Given the description of an element on the screen output the (x, y) to click on. 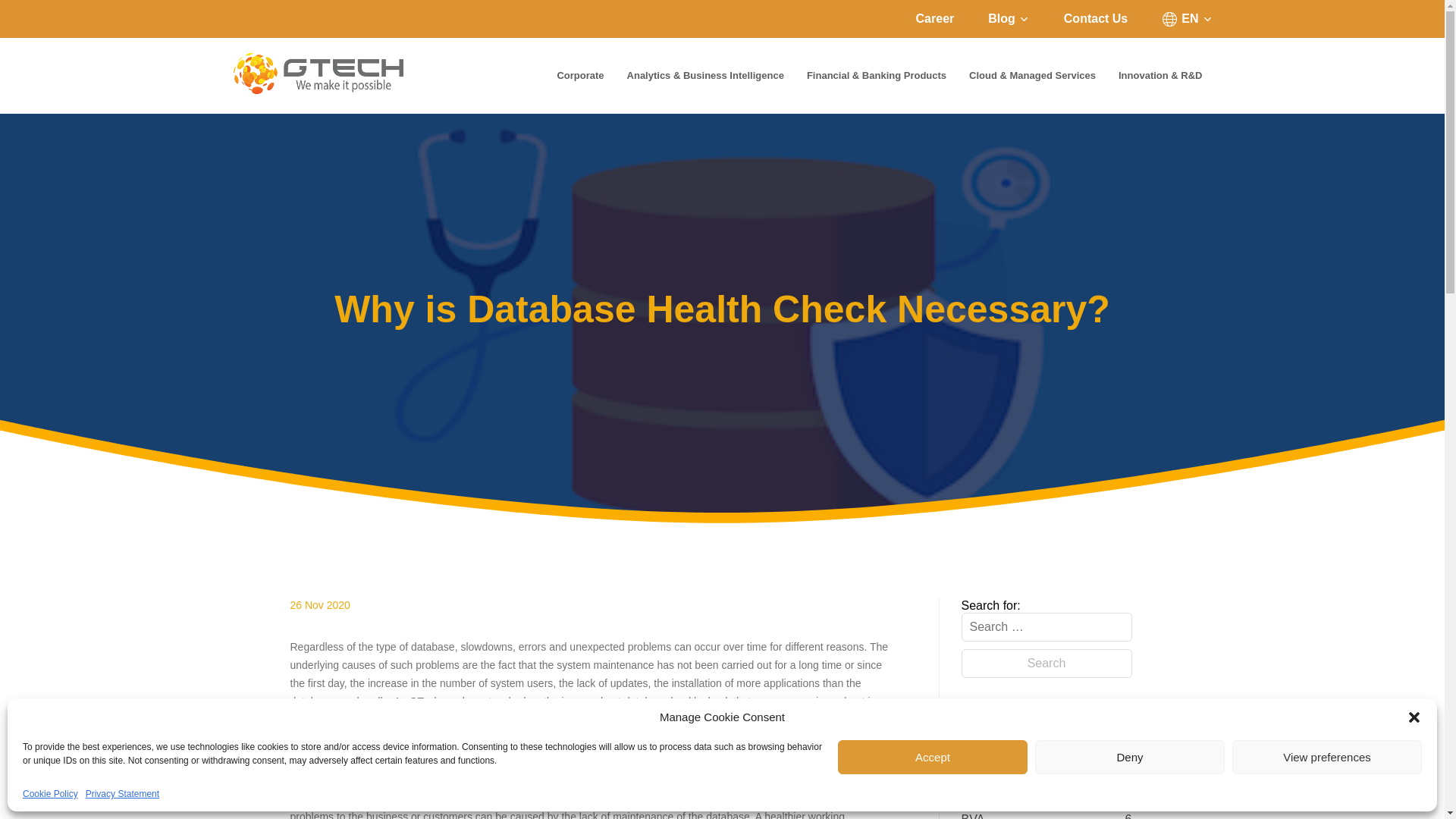
Corporate (579, 75)
Contact Us (1095, 18)
Blog (1008, 18)
Search (1046, 663)
Search (1046, 663)
Career (935, 18)
